Given the description of an element on the screen output the (x, y) to click on. 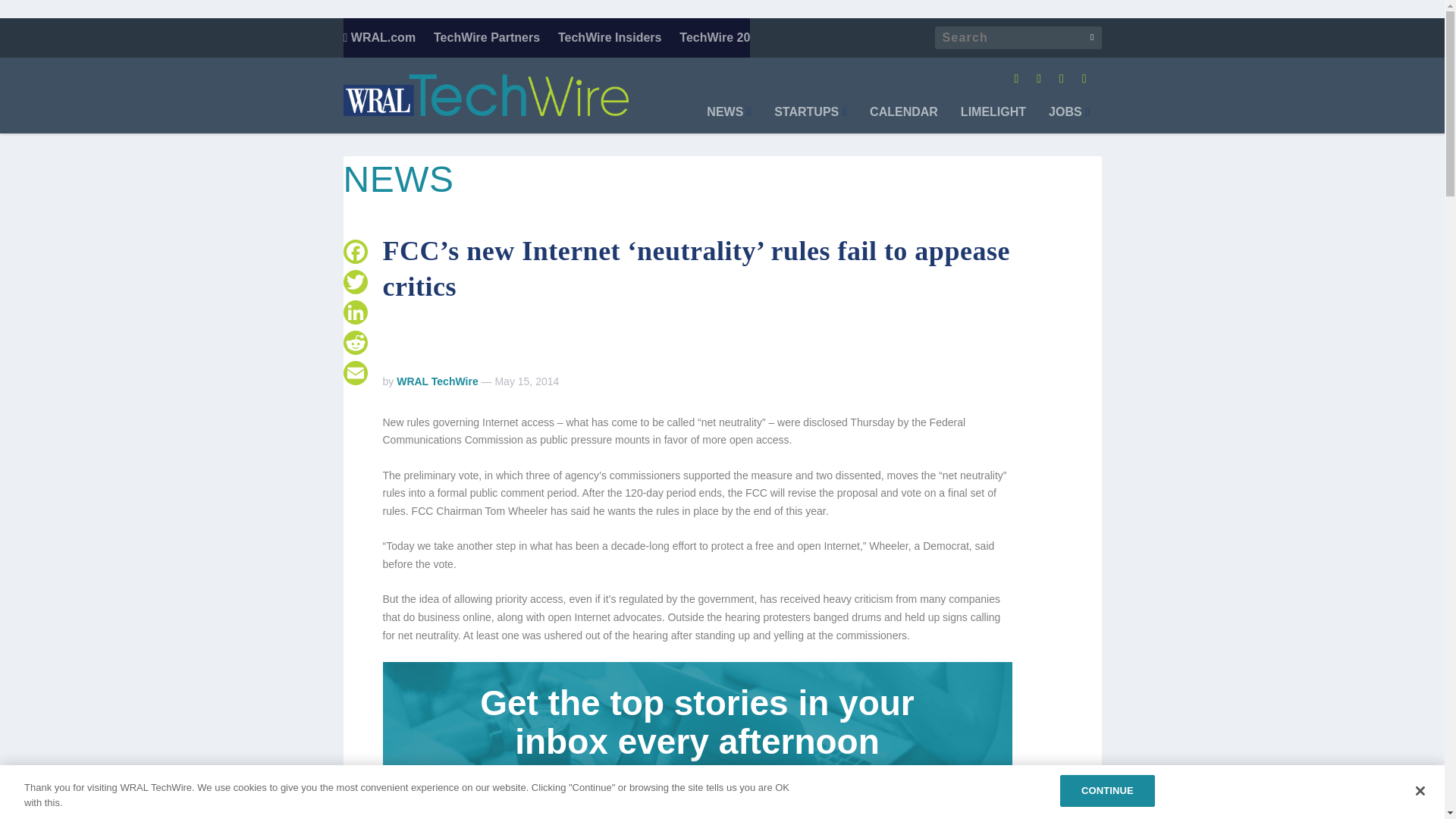
Reddit (354, 342)
WRAL.com (378, 37)
TechWire Insiders (609, 37)
SUBMIT (845, 789)
LinkedIn (354, 312)
STARTUPS (810, 119)
LIMELIGHT (993, 119)
Facebook (354, 251)
CALENDAR (903, 119)
Search for: (1017, 37)
TechWire Partners (486, 37)
Email (354, 372)
Twitter (354, 281)
JOBS (1068, 119)
NEWS (728, 119)
